Given the description of an element on the screen output the (x, y) to click on. 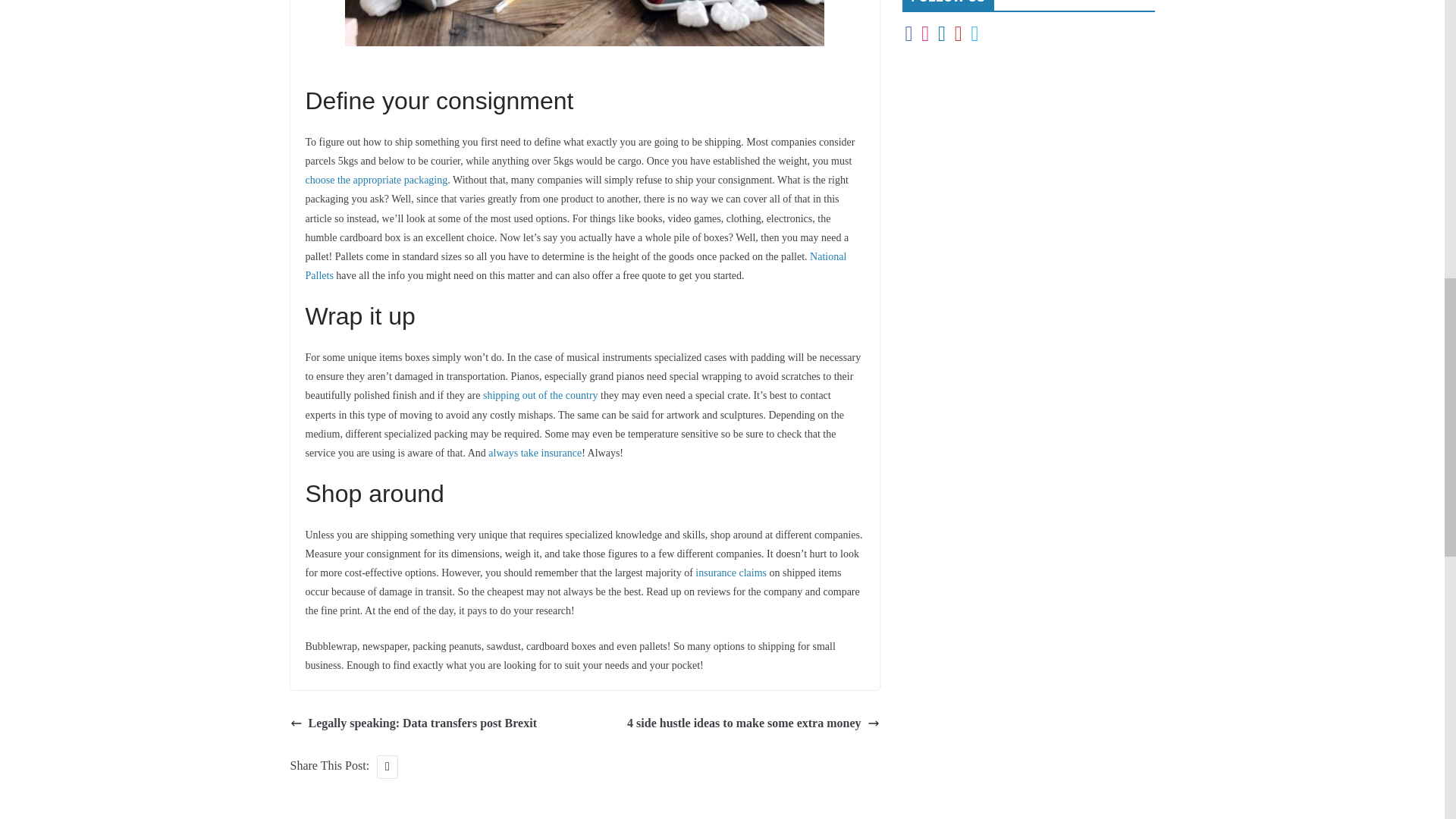
insurance claims (731, 572)
Legally speaking: Data transfers post Brexit (412, 723)
choose the appropriate packaging (375, 179)
always take insurance (533, 452)
National Pallets (574, 265)
4 side hustle ideas to make some extra money (753, 723)
shipping out of the country (540, 395)
